Given the description of an element on the screen output the (x, y) to click on. 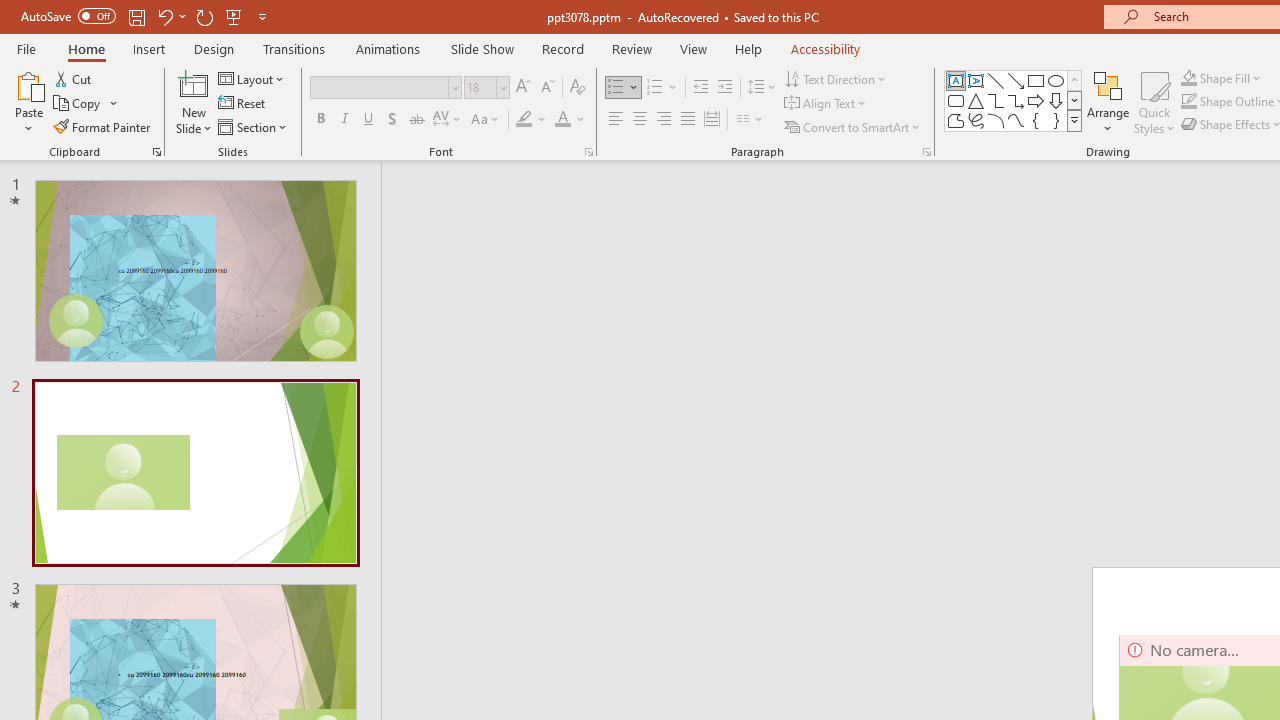
Shape Outline Green, Accent 1 (1188, 101)
